Given the description of an element on the screen output the (x, y) to click on. 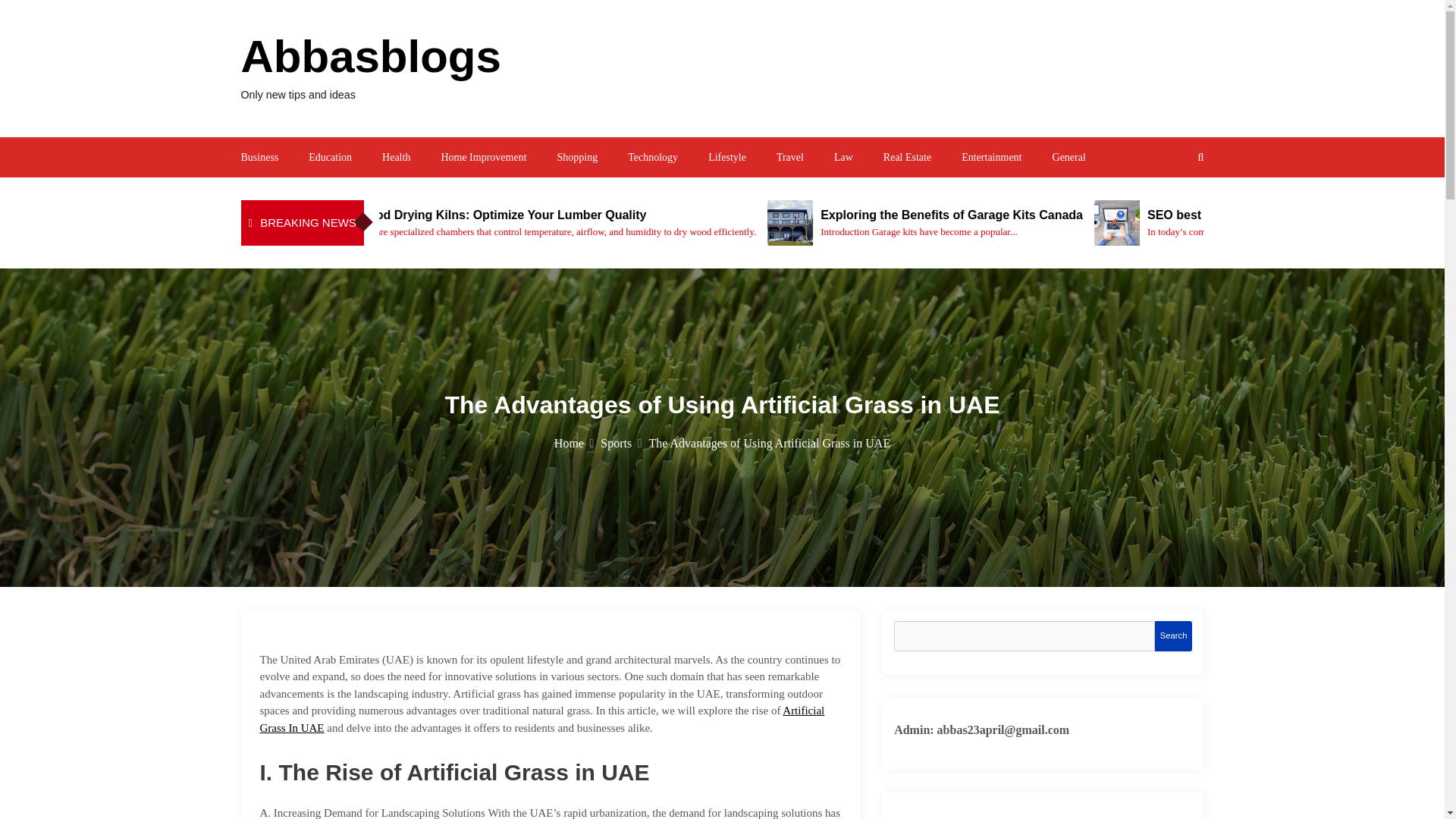
Home (574, 442)
General (1069, 156)
Artificial Grass In UAE (541, 718)
Abbasblogs (370, 56)
Home Improvement (483, 156)
Health (395, 156)
Entertainment (991, 156)
Lifestyle (726, 156)
Technology (652, 156)
Business (260, 156)
Sports (620, 442)
Real Estate (907, 156)
Travel (789, 156)
Law (843, 156)
